Given the description of an element on the screen output the (x, y) to click on. 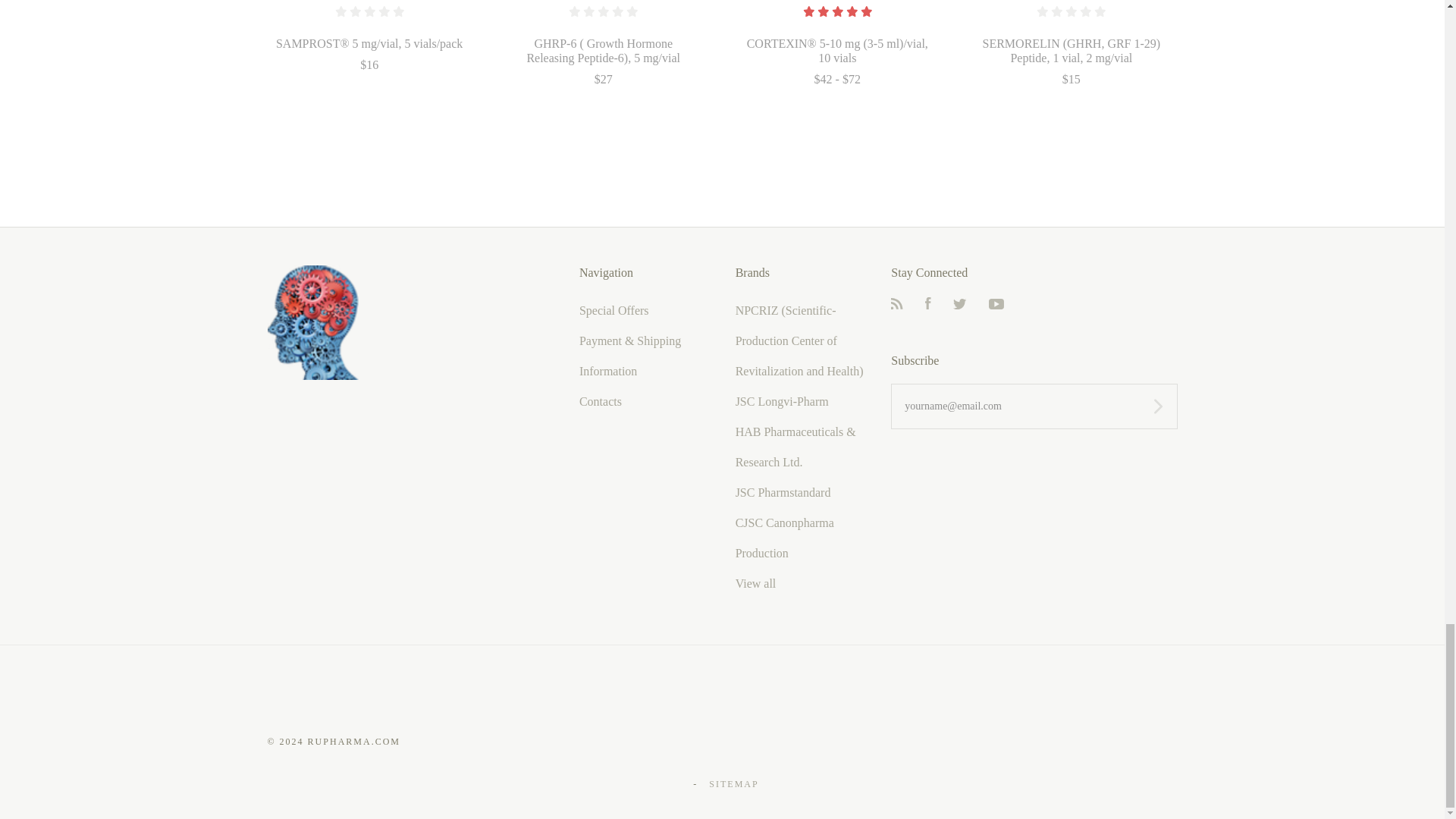
RSS (896, 305)
YouTube (996, 305)
Twitter (959, 305)
